Given the description of an element on the screen output the (x, y) to click on. 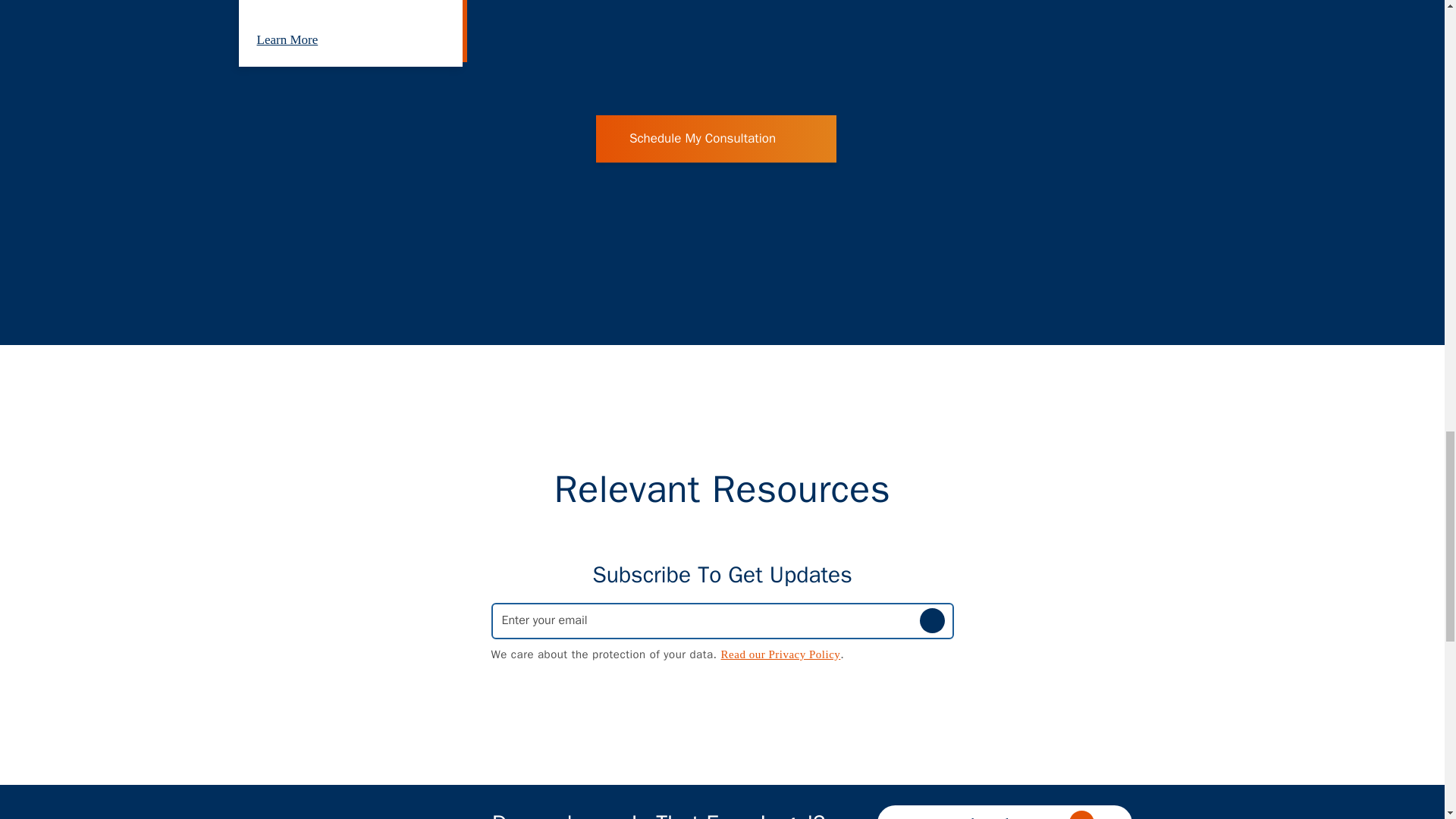
Listen to the Podcast (1003, 812)
Learn More (304, 39)
Schedule My Consultation (715, 138)
Read our Privacy Policy (780, 654)
Subscribe (930, 620)
